Given the description of an element on the screen output the (x, y) to click on. 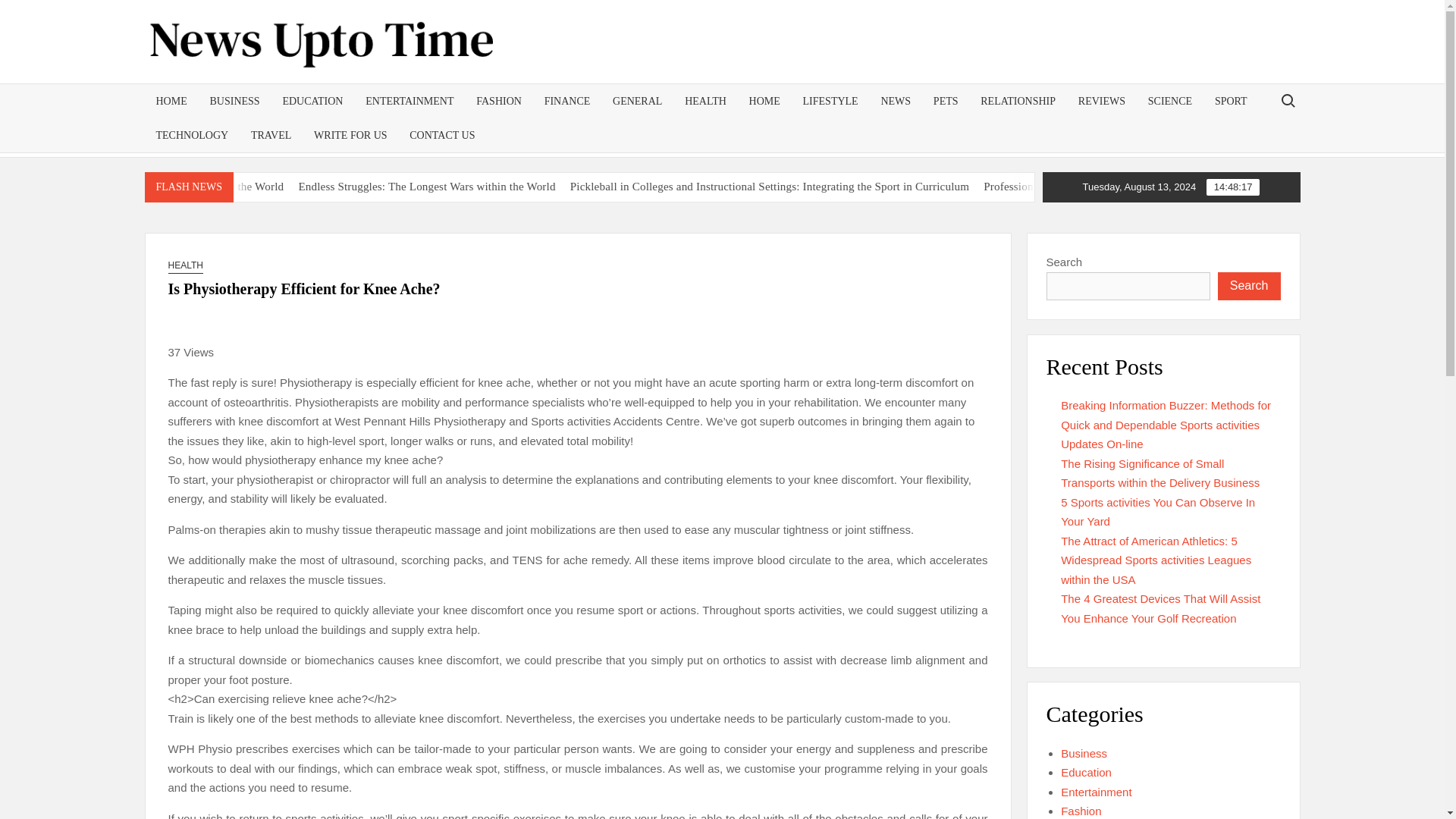
NEWS (895, 100)
FASHION (498, 100)
GENERAL (636, 100)
HOME (171, 100)
EDUCATION (311, 100)
ENTERTAINMENT (408, 100)
LIFESTYLE (830, 100)
FINANCE (567, 100)
Endless Struggles: The Longest Wars within the World (561, 186)
